Given the description of an element on the screen output the (x, y) to click on. 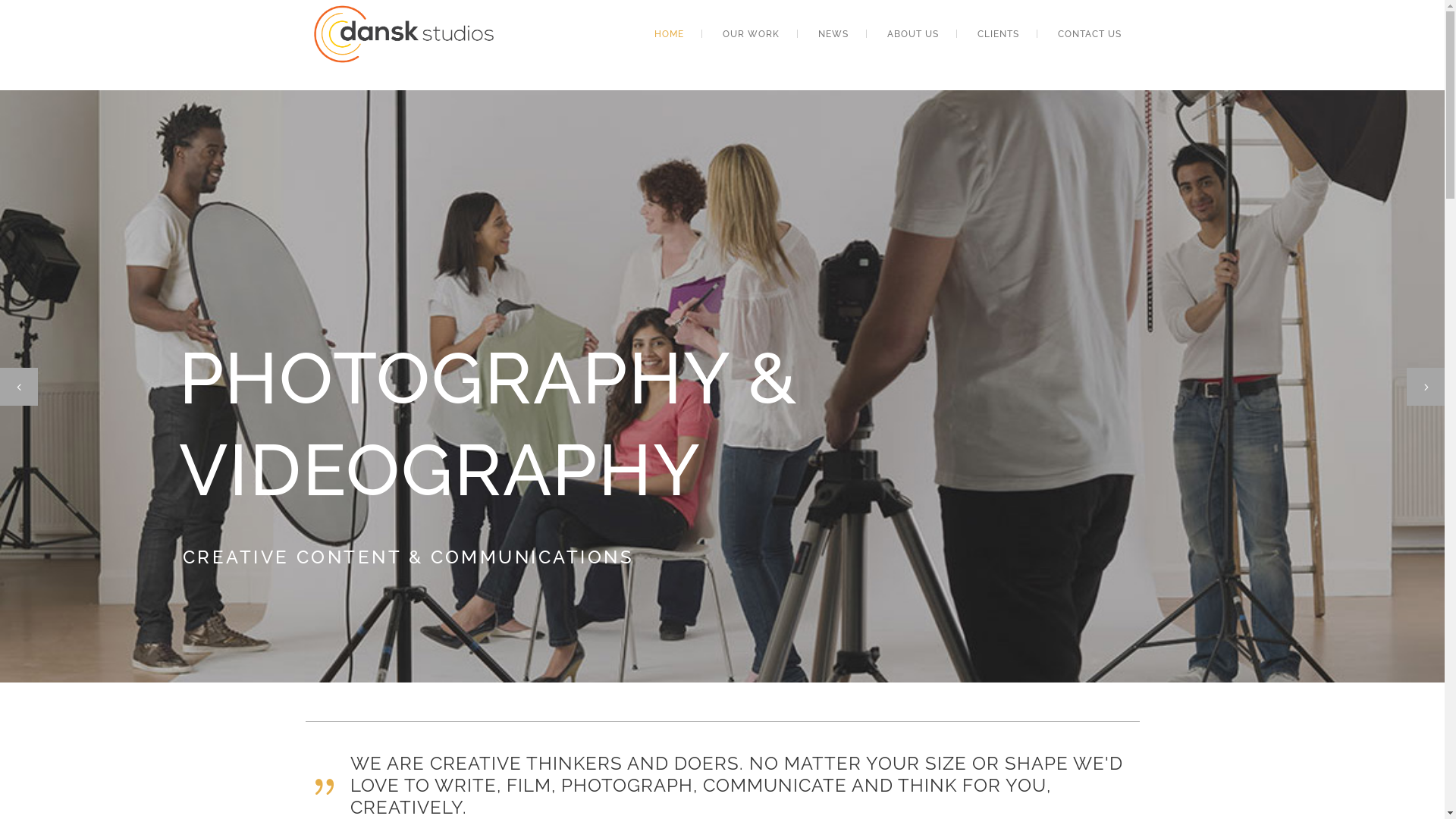
NEWS Element type: text (832, 34)
HOME Element type: text (668, 34)
OUR WORK Element type: text (750, 34)
CLIENTS Element type: text (997, 34)
CONTACT US Element type: text (1088, 34)
ABOUT US Element type: text (913, 34)
